Given the description of an element on the screen output the (x, y) to click on. 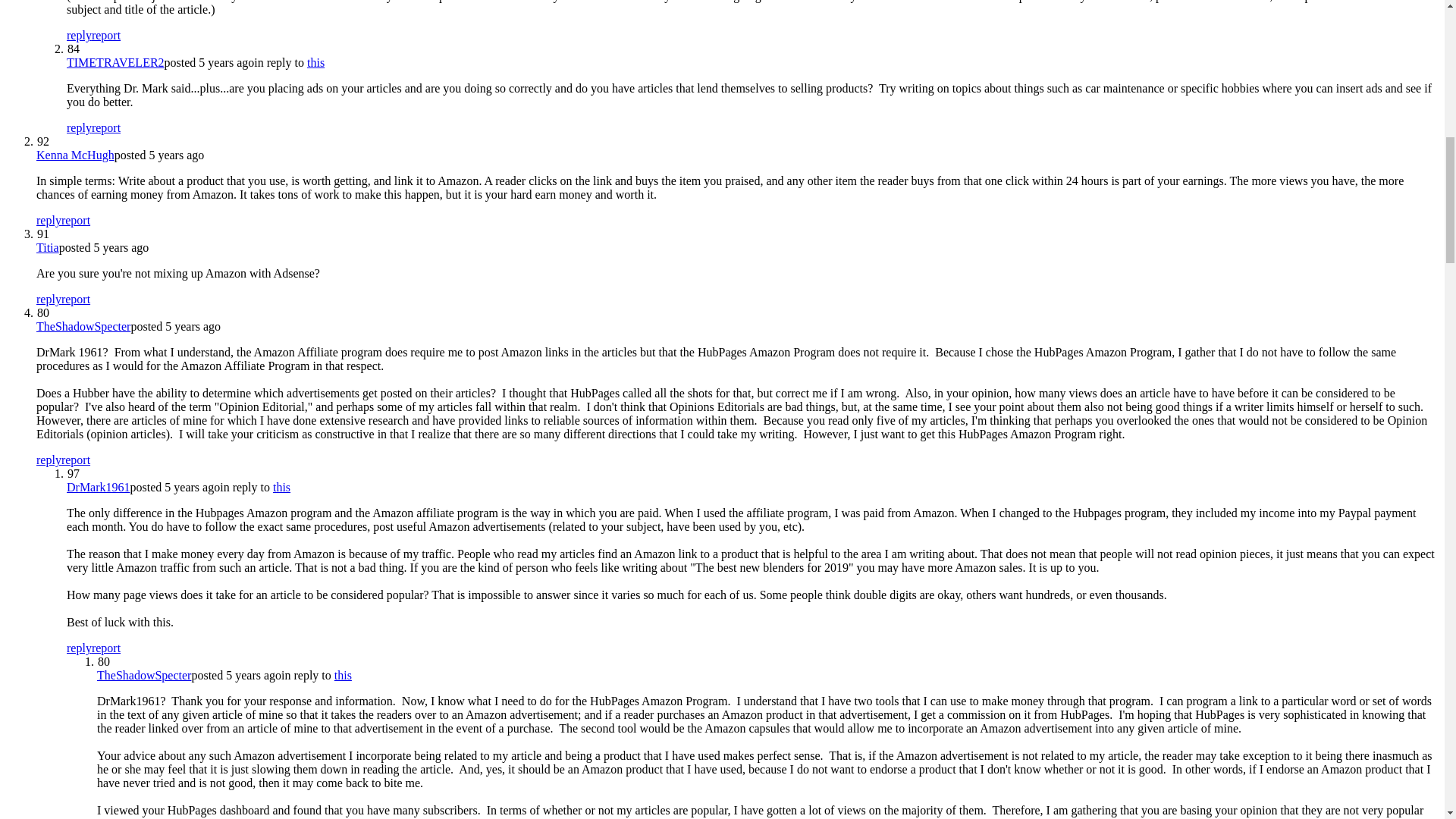
Hubber Score (43, 312)
reply (78, 34)
TheShadowSpecter (83, 326)
report (75, 298)
Hubber Score (73, 472)
reply (48, 298)
TIMETRAVELER2 (115, 62)
reply (78, 127)
Titia (47, 246)
report (75, 459)
Hubber Score (73, 48)
this (315, 62)
